Given the description of an element on the screen output the (x, y) to click on. 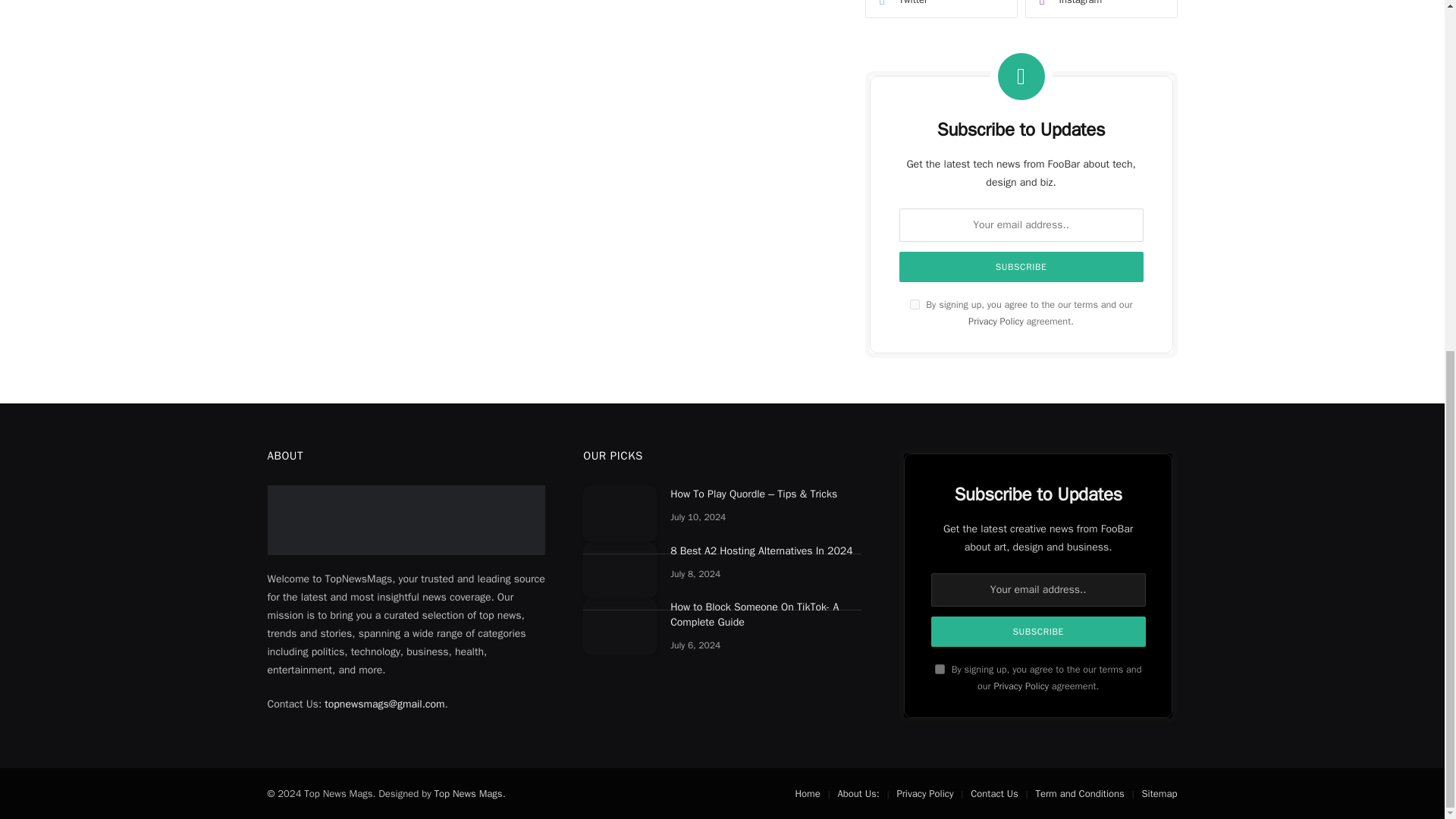
Subscribe (1020, 266)
Subscribe (1038, 631)
on (915, 304)
on (939, 669)
